Given the description of an element on the screen output the (x, y) to click on. 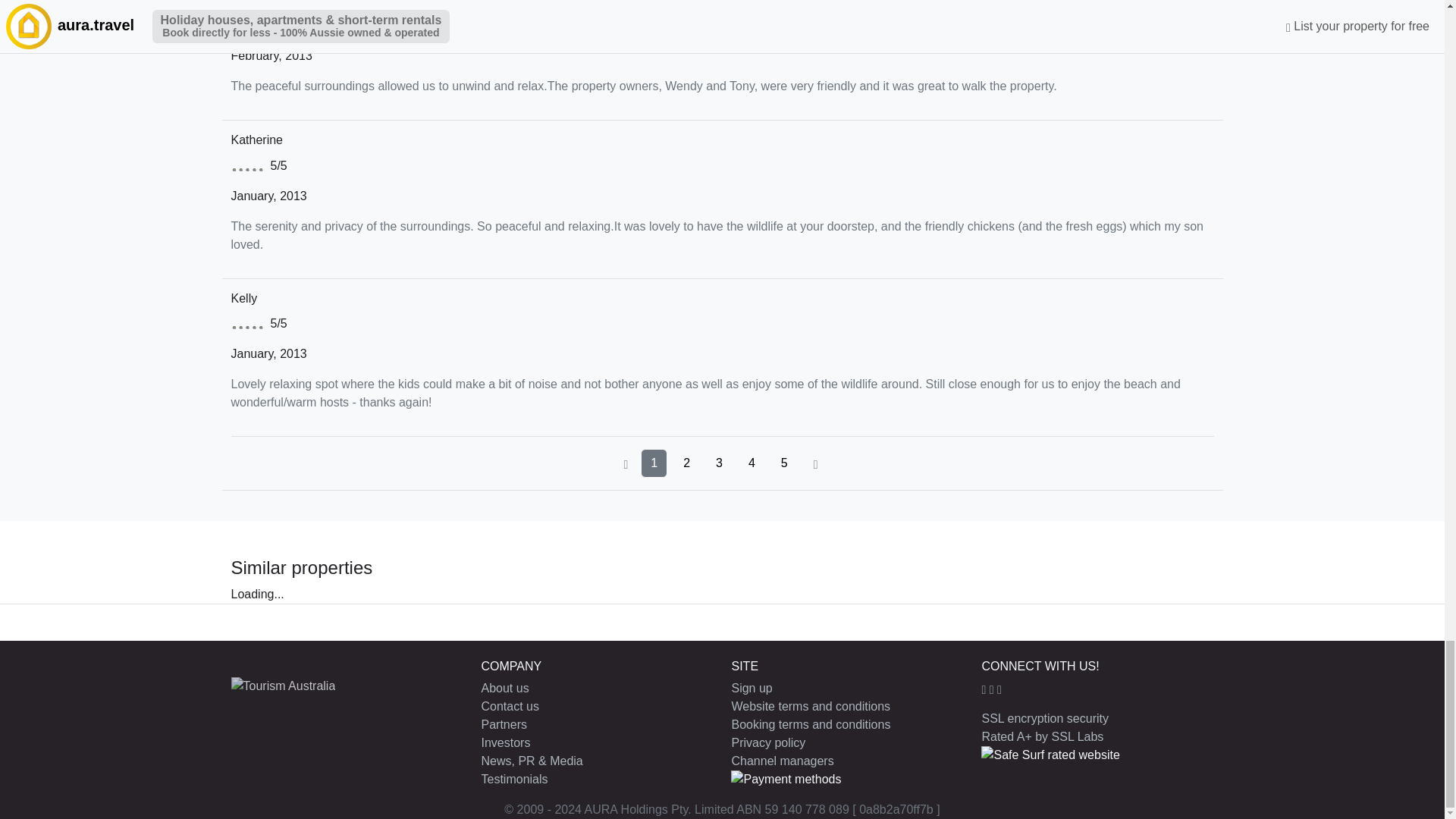
2 (686, 462)
1 (653, 462)
3 (719, 462)
